Given the description of an element on the screen output the (x, y) to click on. 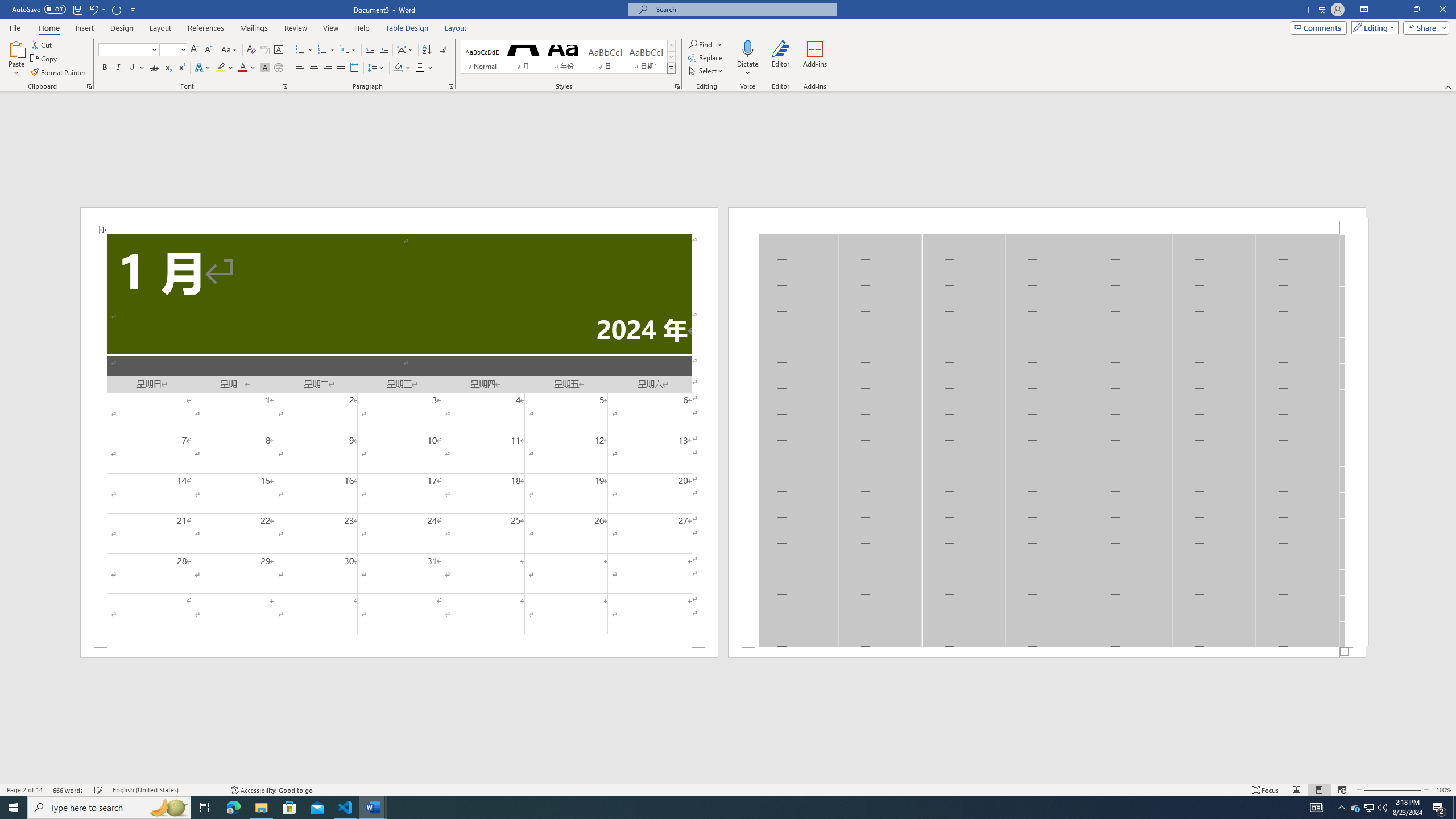
Page 2 content (1046, 440)
Page 1 content (398, 440)
